Given the description of an element on the screen output the (x, y) to click on. 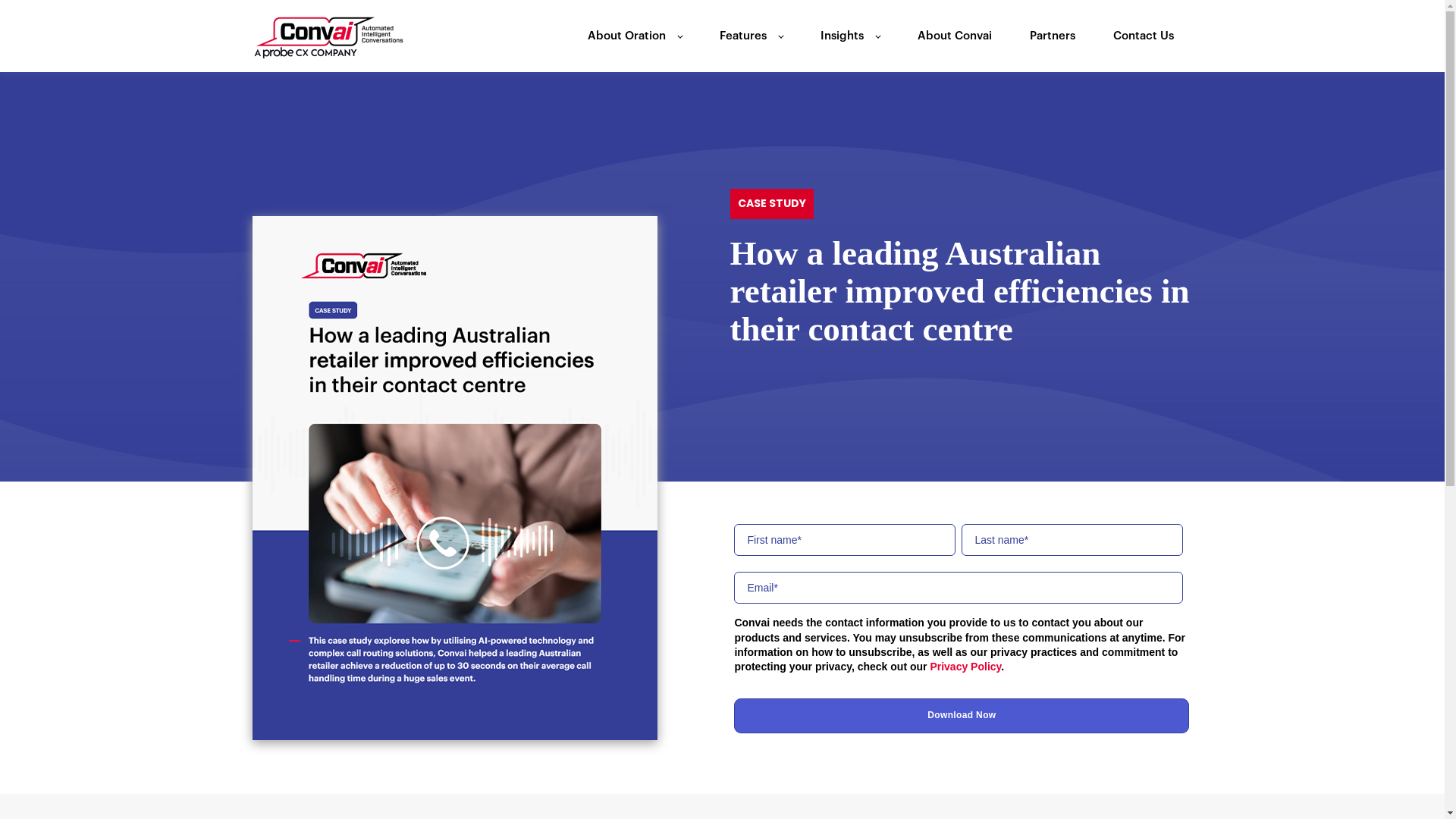
Contact Us Element type: text (1143, 36)
Insights Element type: text (849, 36)
Privacy Policy Element type: text (965, 666)
Download Now Element type: text (961, 715)
About Convai Element type: text (954, 36)
About Oration Element type: text (633, 36)
Features Element type: text (749, 36)
Partners Element type: text (1052, 36)
